Given the description of an element on the screen output the (x, y) to click on. 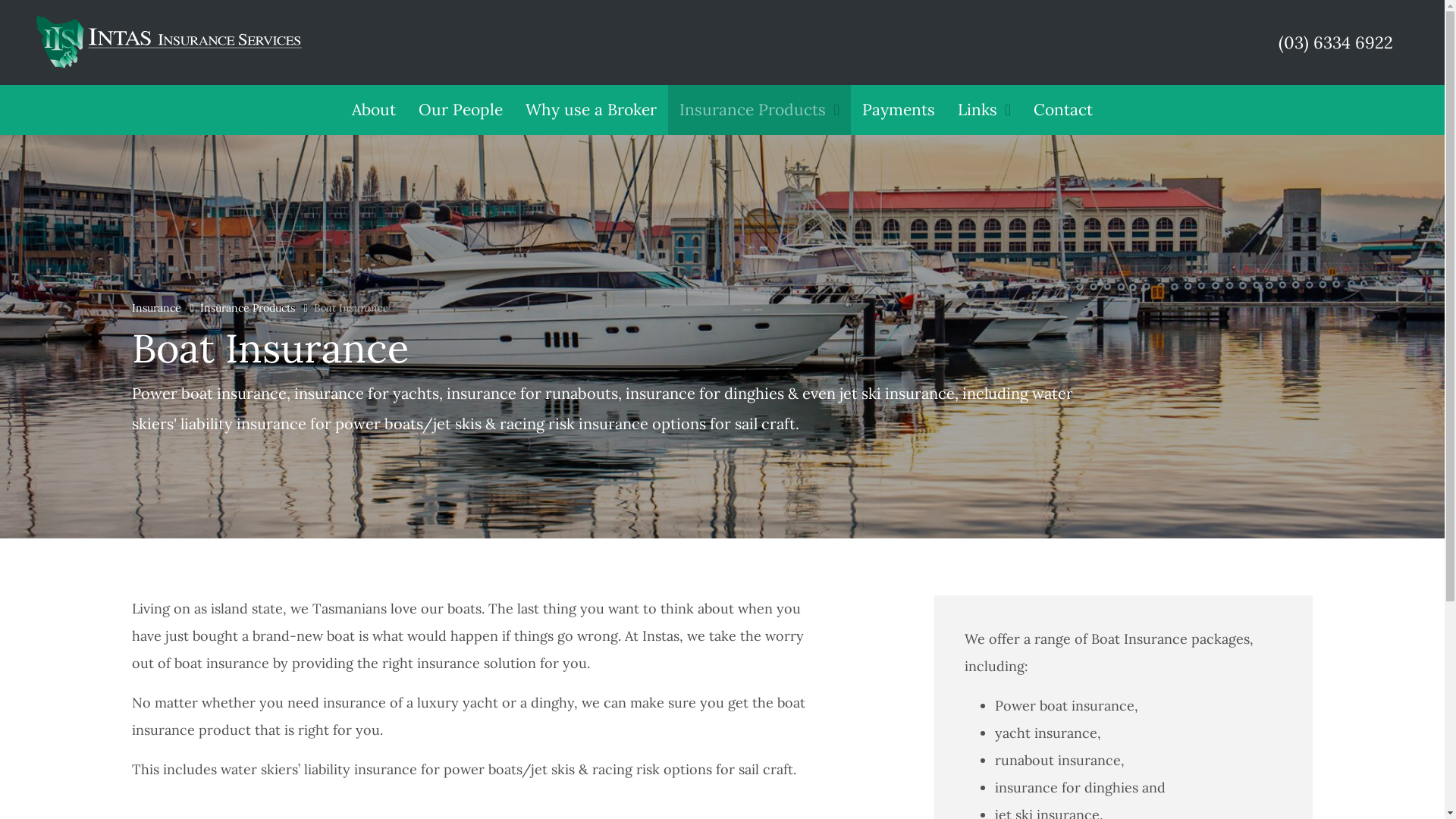
Insurance Element type: text (156, 307)
Contact Element type: text (1063, 109)
Our People Element type: text (460, 109)
Insurance Products Element type: text (759, 109)
Why use a Broker Element type: text (591, 109)
Links Element type: text (984, 109)
 (03) 6334 6922 Element type: text (1333, 42)
About Element type: text (373, 109)
Payments Element type: text (898, 109)
Insurance Products Element type: text (247, 307)
